Given the description of an element on the screen output the (x, y) to click on. 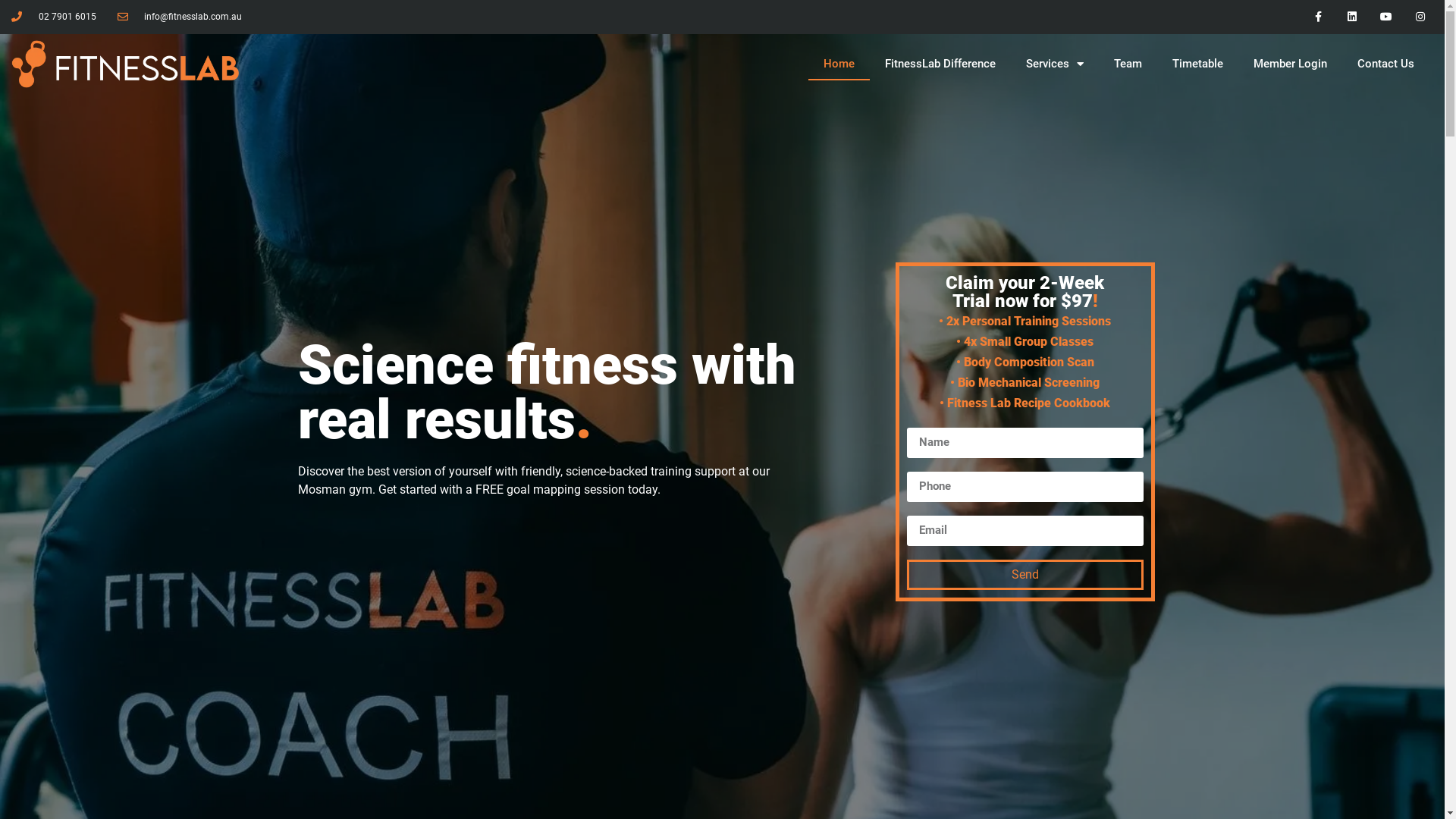
info@fitnesslab.com.au Element type: text (178, 16)
FitnessLab Difference Element type: text (939, 63)
Timetable Element type: text (1197, 63)
Member Login Element type: text (1290, 63)
Services Element type: text (1054, 63)
Home Element type: text (838, 63)
Team Element type: text (1127, 63)
02 7901 6015 Element type: text (53, 16)
Contact Us Element type: text (1385, 63)
Send Element type: text (1024, 574)
